Given the description of an element on the screen output the (x, y) to click on. 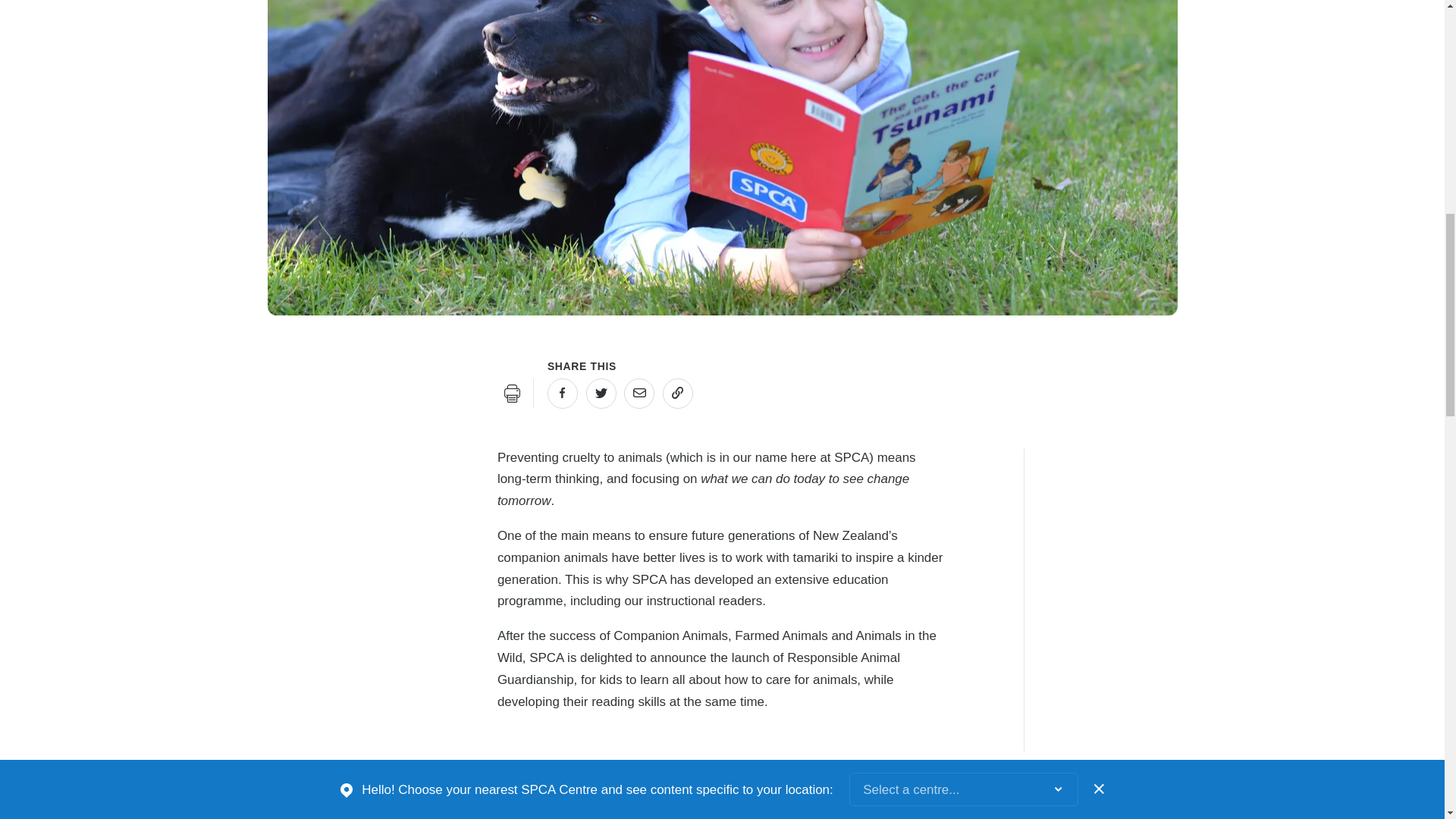
Share on Facebook (562, 393)
Share on Twitter (600, 393)
Print this page (512, 393)
Email this article (638, 393)
Copy this article's URL (677, 393)
